Given the description of an element on the screen output the (x, y) to click on. 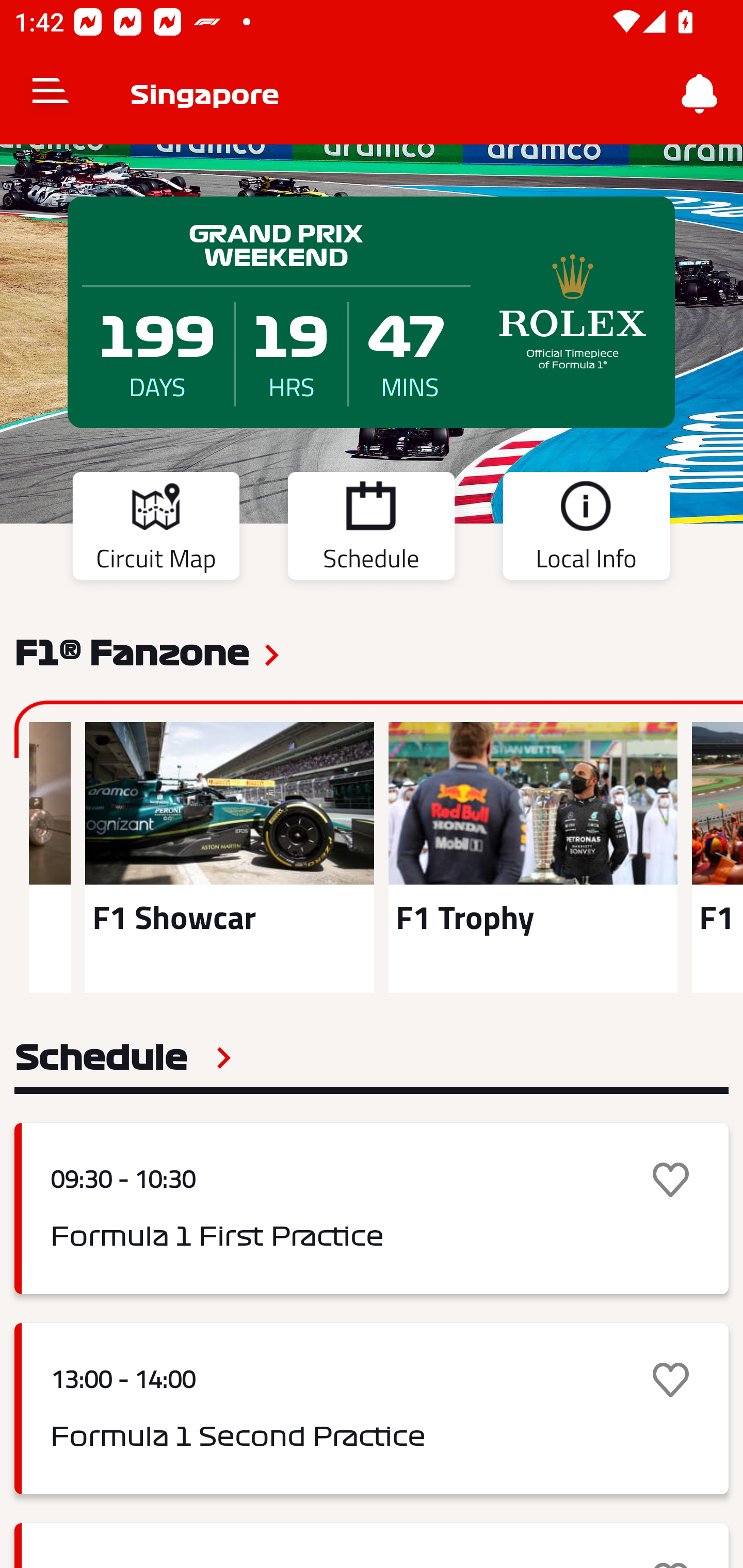
Navigate up (50, 93)
Notifications (699, 93)
Circuit Map (155, 528)
Schedule (370, 528)
Local Info (586, 528)
F1® Fanzone (131, 651)
F1 Showcar (229, 857)
F1 Trophy (532, 857)
Schedule (122, 1057)
09:30 - 10:30 Formula 1 First Practice (371, 1207)
13:00 - 14:00 Formula 1 Second Practice (371, 1408)
